Given the description of an element on the screen output the (x, y) to click on. 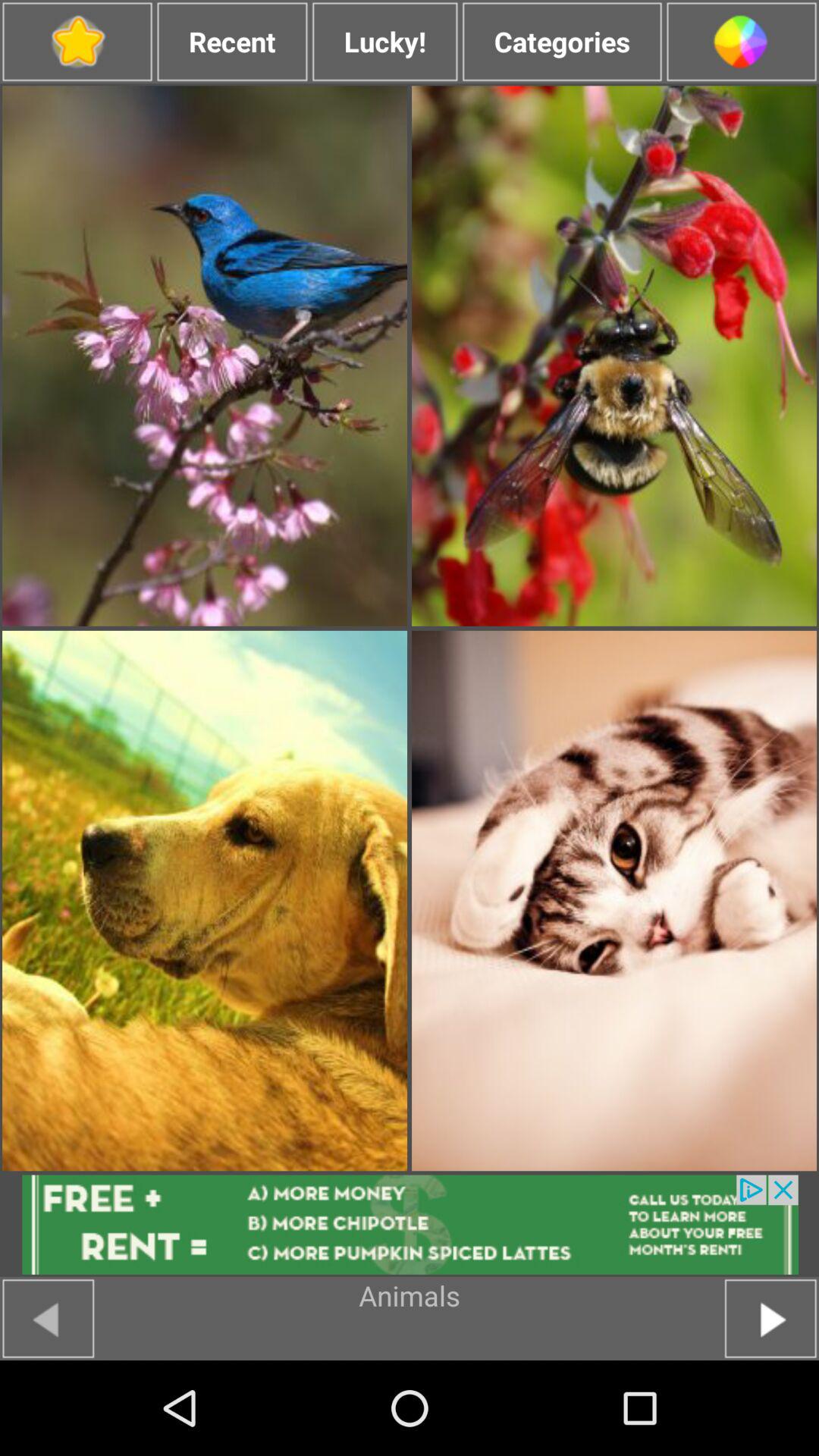
go back (48, 1318)
